Given the description of an element on the screen output the (x, y) to click on. 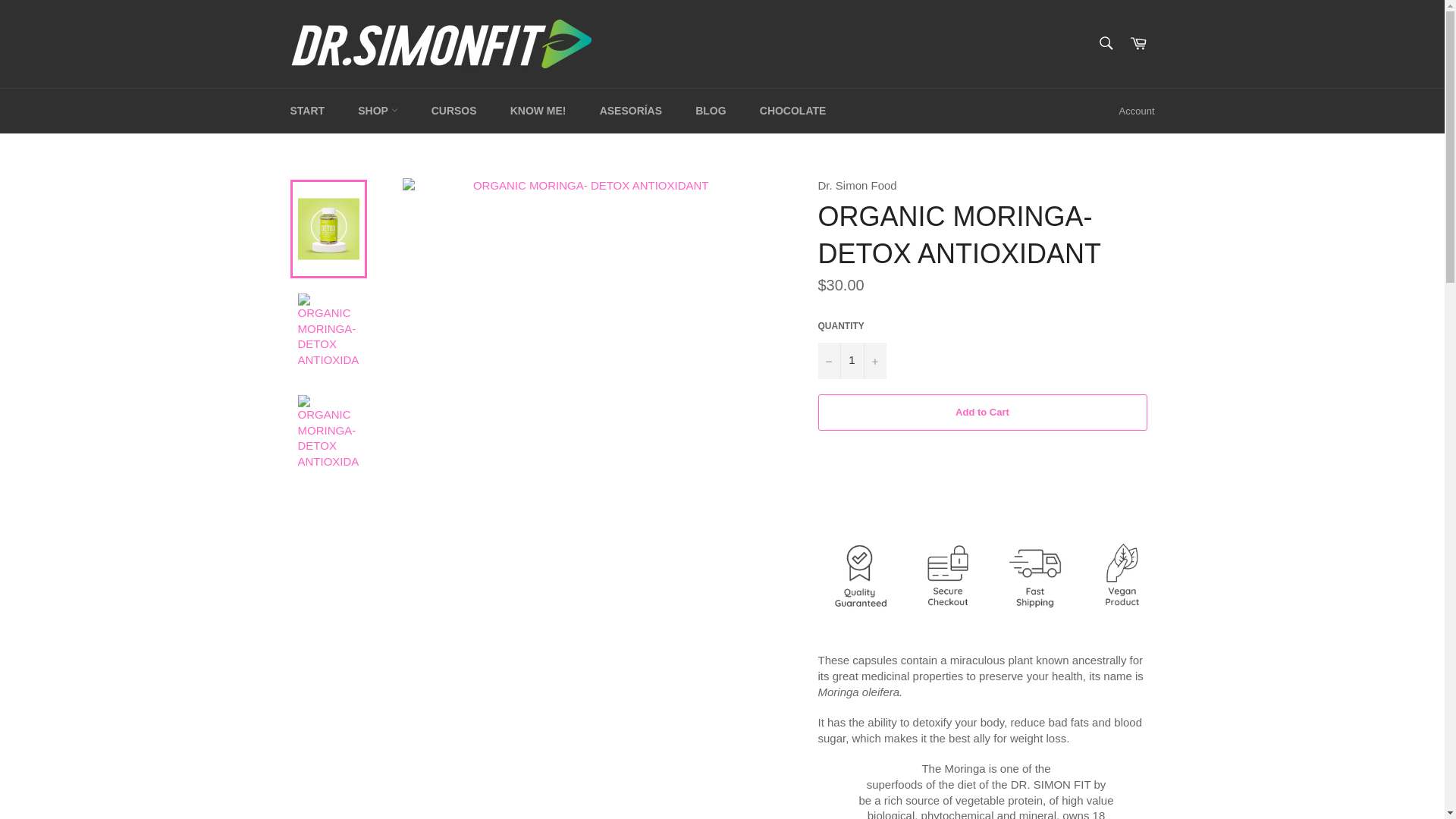
Cart (1138, 44)
KNOW ME! (537, 110)
BLOG (710, 110)
1 (850, 361)
CURSOS (454, 110)
Account (1136, 111)
SHOP (377, 110)
CHOCOLATE (792, 110)
START (307, 110)
Search (1104, 42)
